Given the description of an element on the screen output the (x, y) to click on. 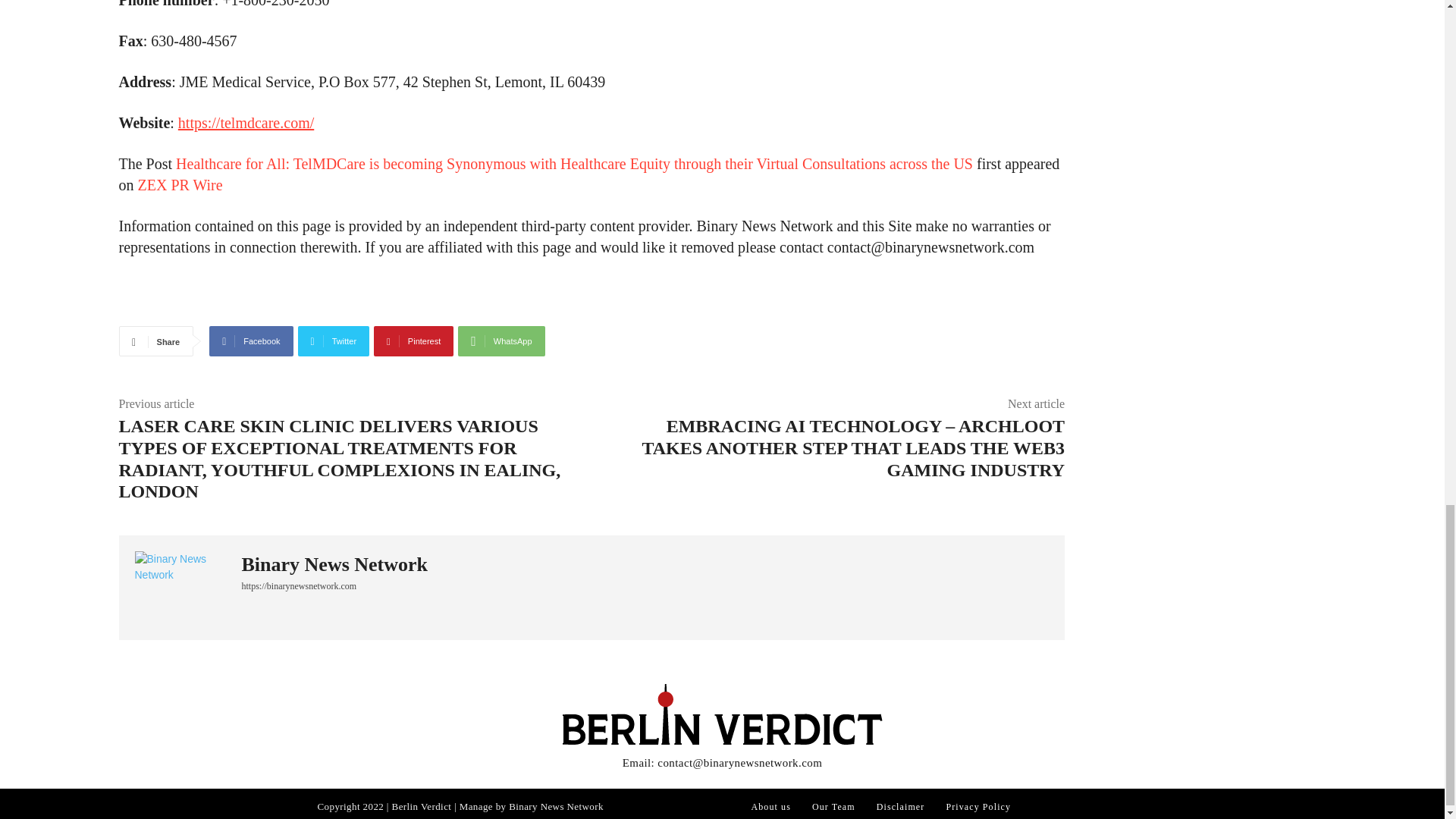
Twitter (333, 340)
Facebook (250, 340)
WhatsApp (501, 340)
Pinterest (413, 340)
Twitter (333, 340)
Binary News Network (334, 564)
ZEX PR Wire (180, 184)
WhatsApp (501, 340)
Facebook (250, 340)
Pinterest (413, 340)
